Given the description of an element on the screen output the (x, y) to click on. 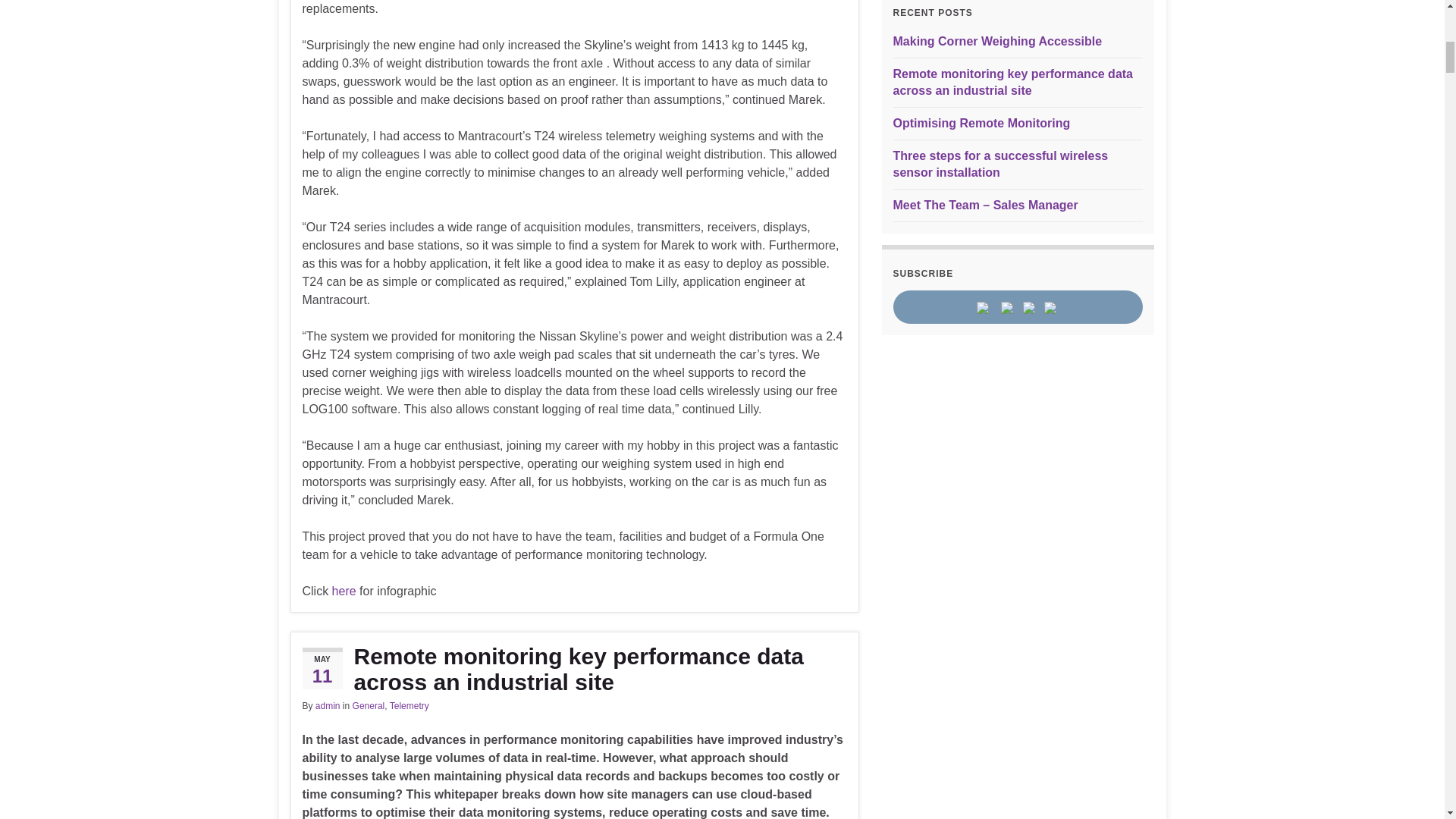
admin (327, 706)
Telemetry (409, 706)
here (343, 590)
General (368, 706)
